Given the description of an element on the screen output the (x, y) to click on. 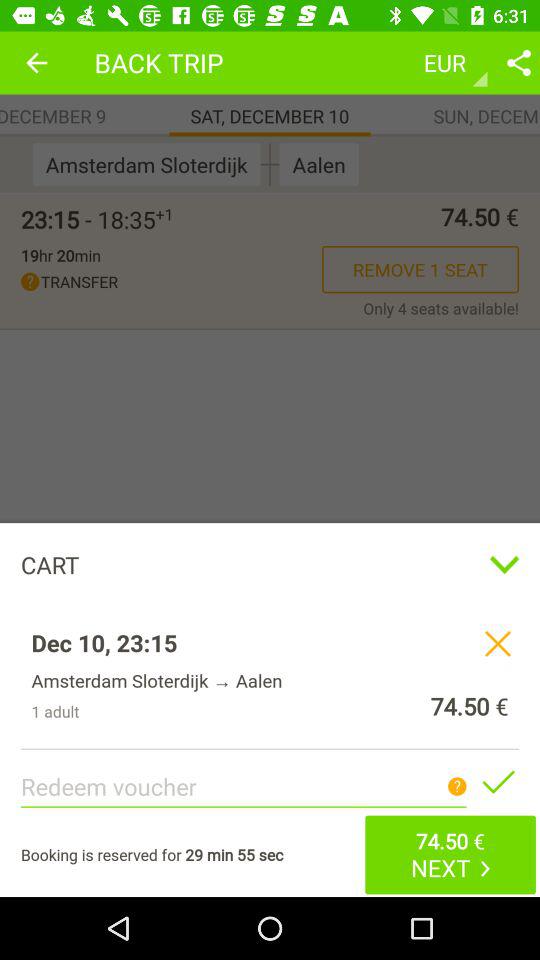
launch the icon below the 19hr 20min item (171, 281)
